Given the description of an element on the screen output the (x, y) to click on. 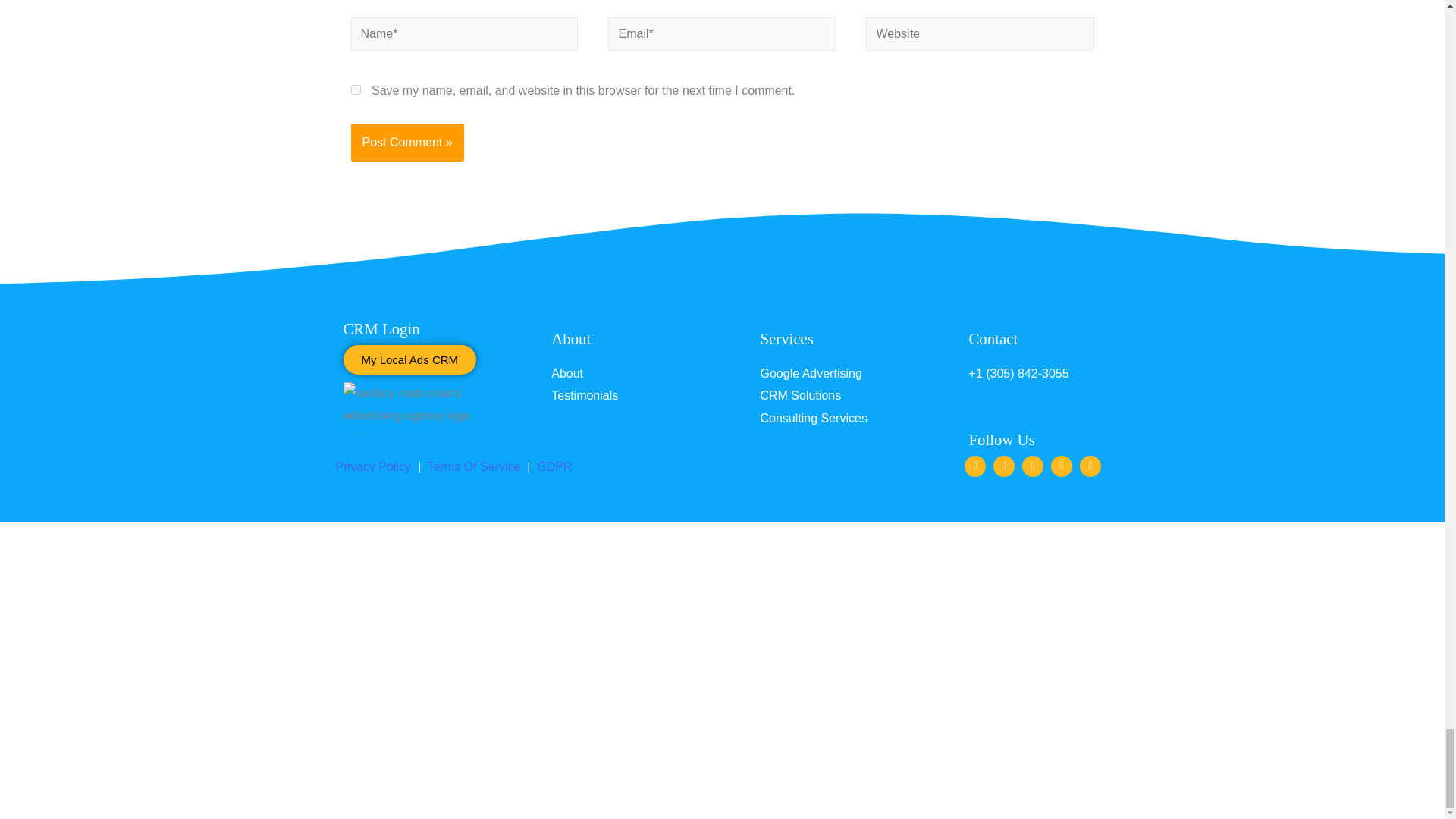
About (571, 338)
My Local Ads CRM (409, 359)
yes (354, 90)
